Given the description of an element on the screen output the (x, y) to click on. 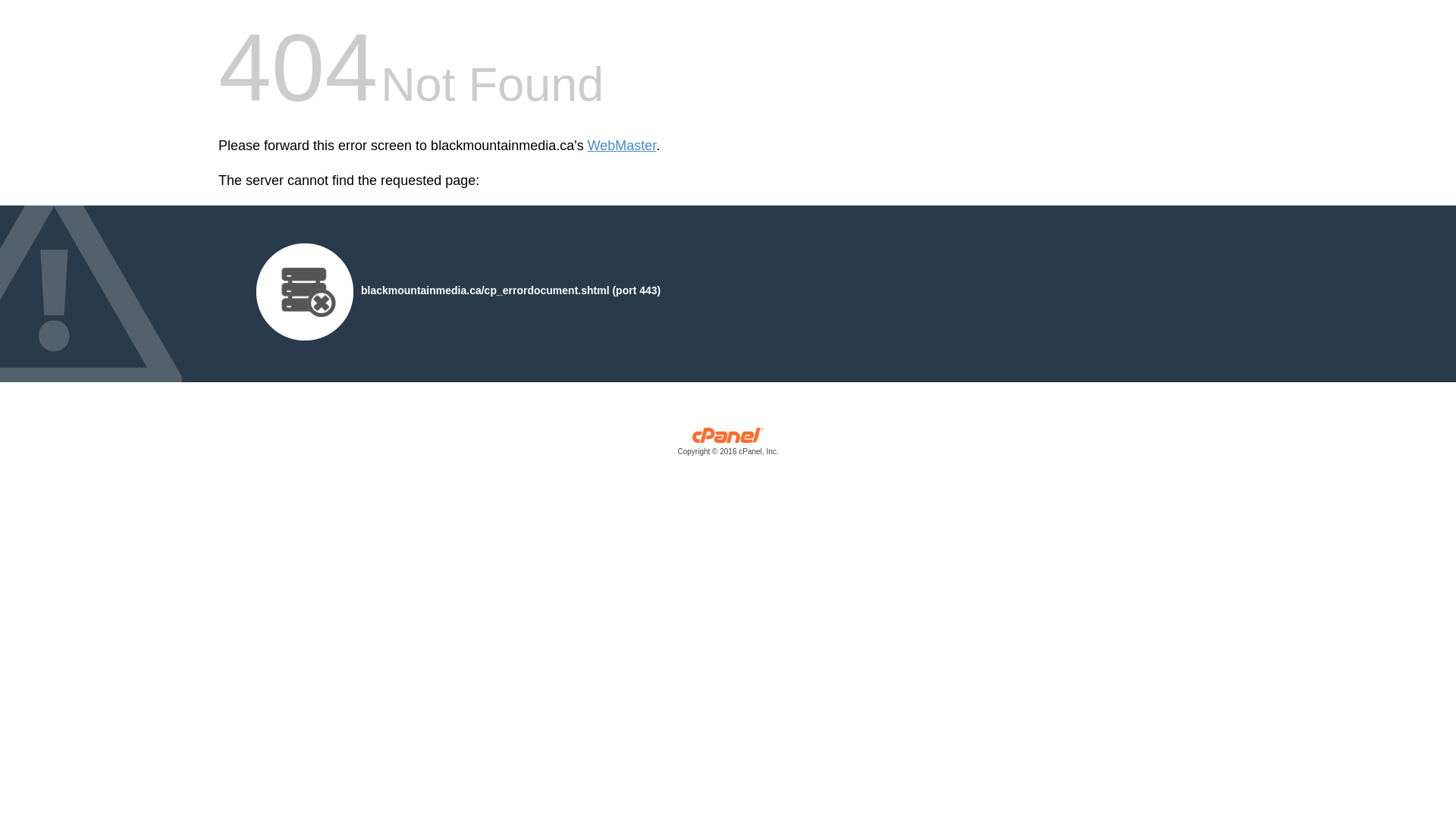
WebMaster Element type: text (621, 145)
